Given the description of an element on the screen output the (x, y) to click on. 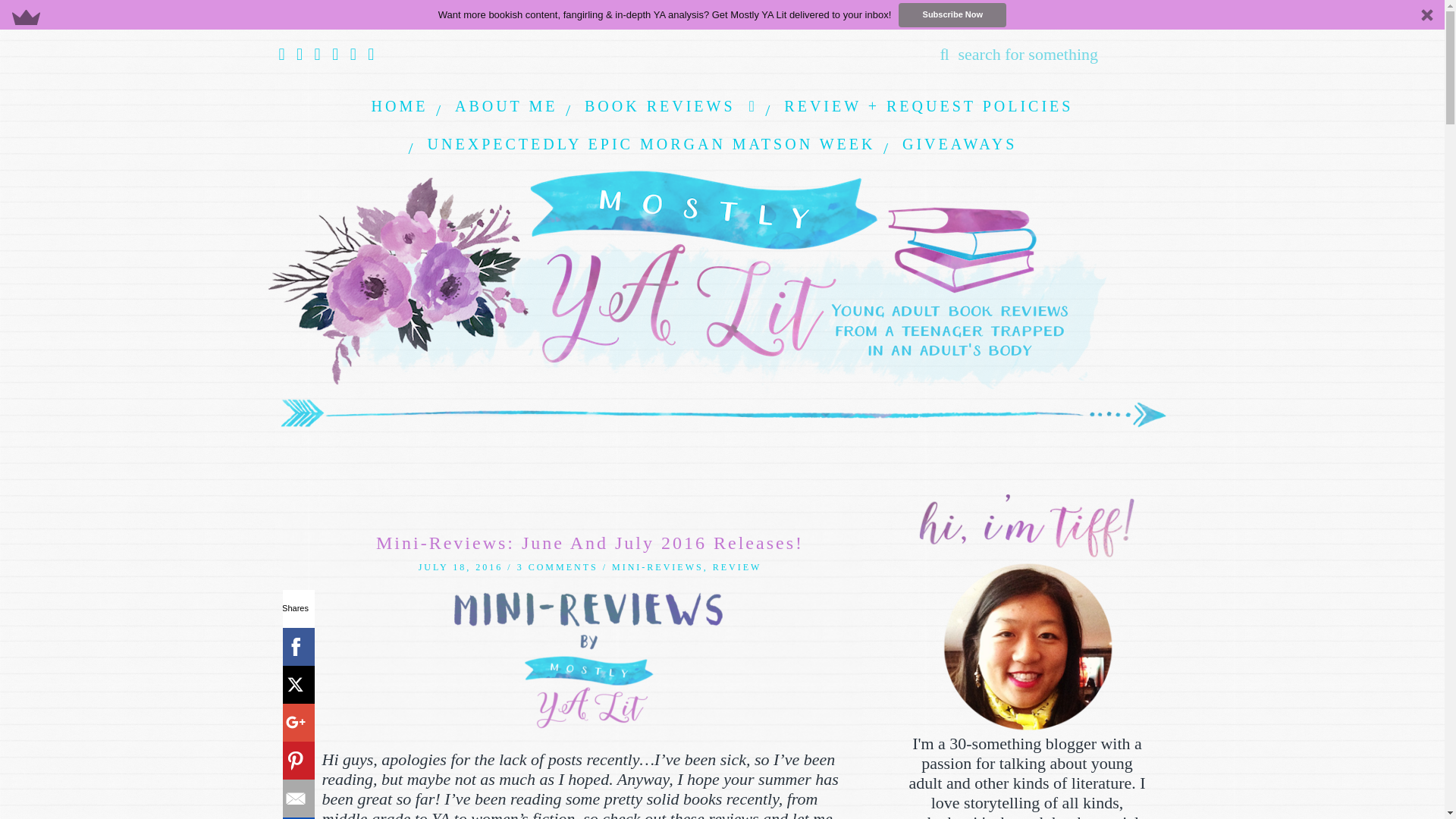
SumoMe (295, 818)
3 COMMENTS (557, 566)
MINI-REVIEWS (657, 566)
View all posts in Mini-Reviews (657, 566)
Subscribe Now (952, 15)
Facebook (295, 646)
X (295, 684)
ABOUT ME (506, 105)
View all posts in Review (737, 566)
GIVEAWAYS (959, 143)
Pinterest (295, 760)
HOME (399, 105)
UNEXPECTEDLY EPIC MORGAN MATSON WEEK (651, 143)
REVIEW (737, 566)
BOOK REVIEWS   (670, 105)
